Given the description of an element on the screen output the (x, y) to click on. 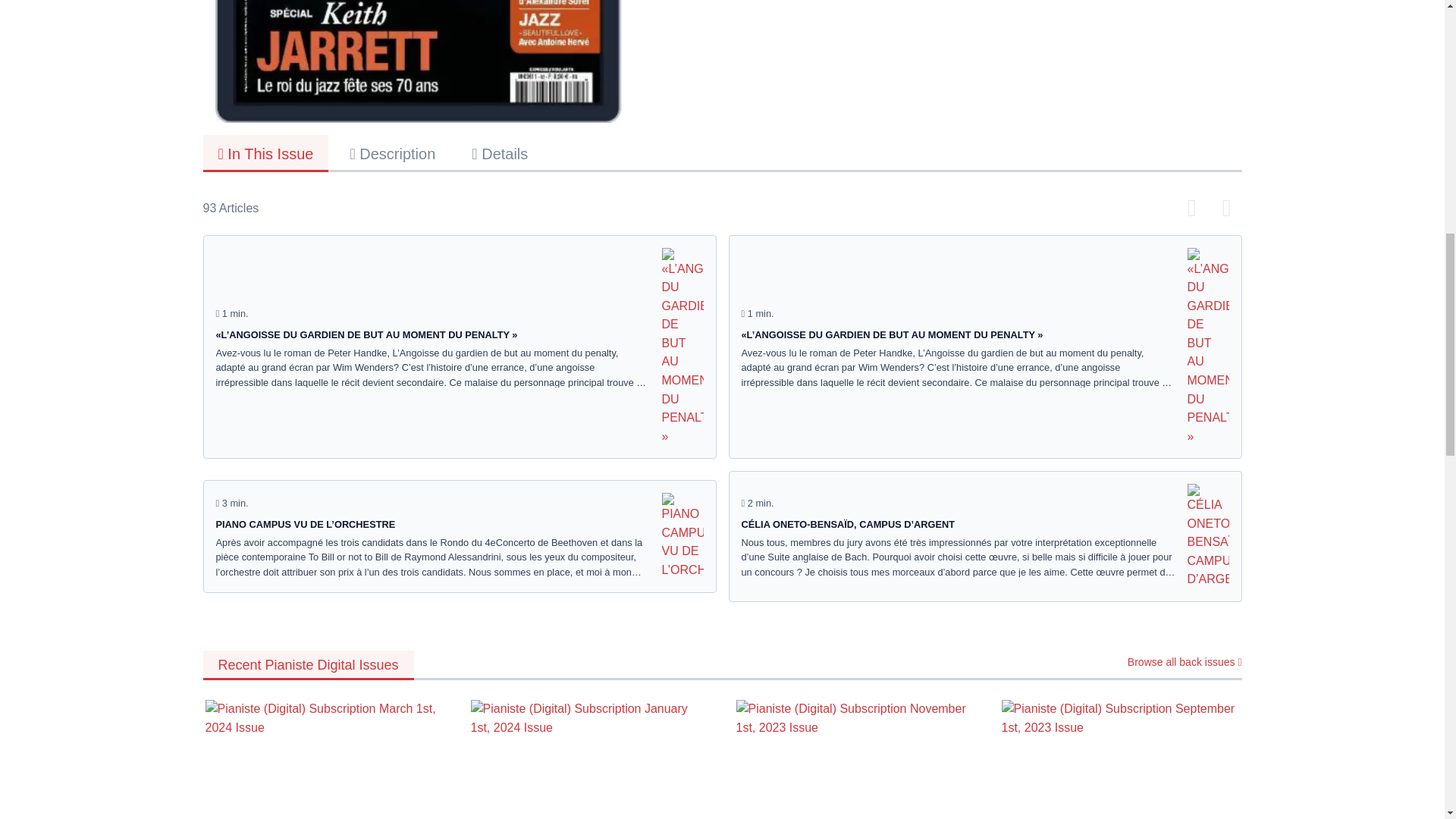
Description (391, 152)
In This Issue (266, 153)
Pianiste April 22nd, 2015 Digital Back Issue Cover (419, 61)
Details (500, 152)
